Given the description of an element on the screen output the (x, y) to click on. 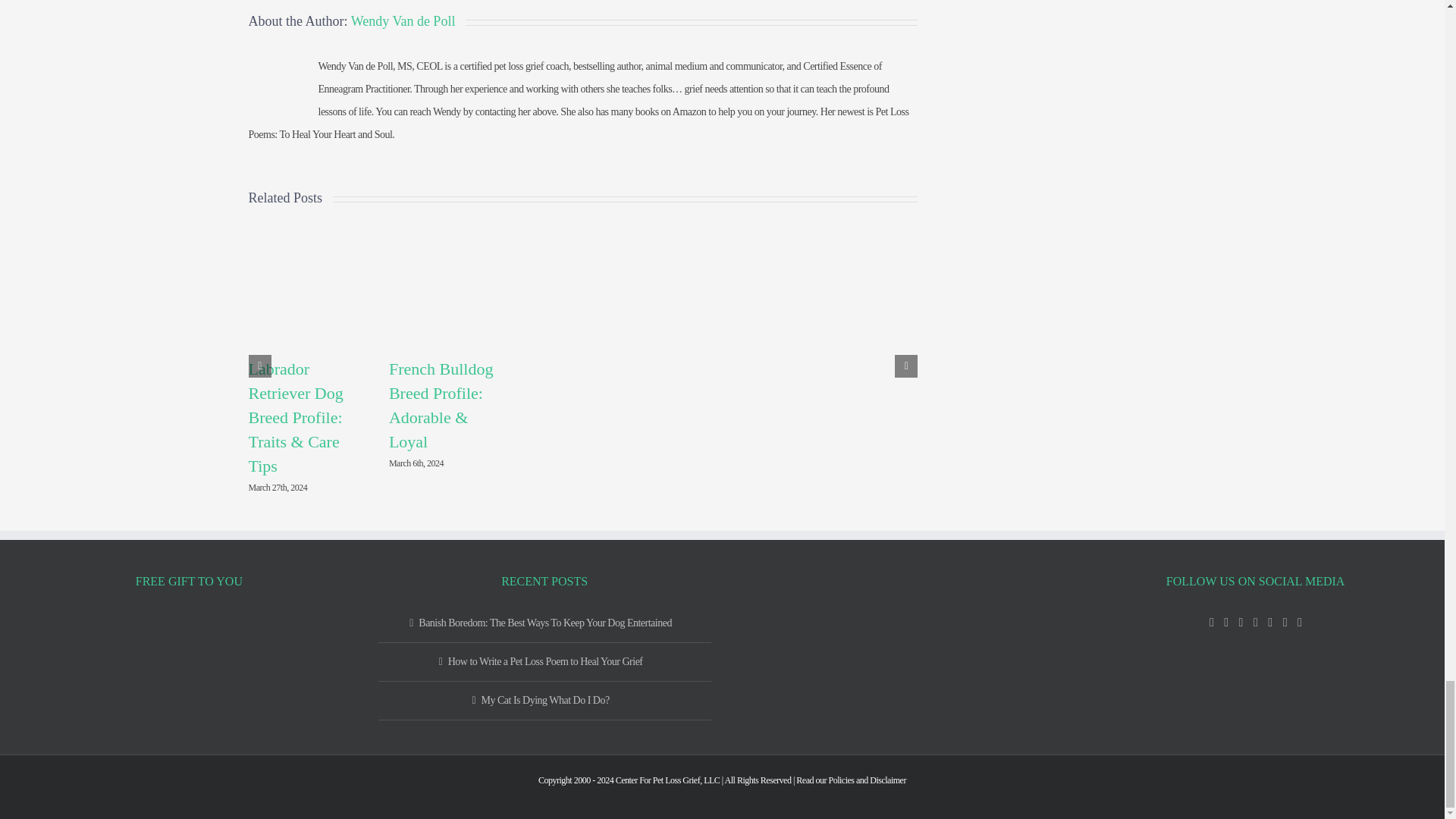
Posts by Wendy Van de Poll (402, 20)
